Given the description of an element on the screen output the (x, y) to click on. 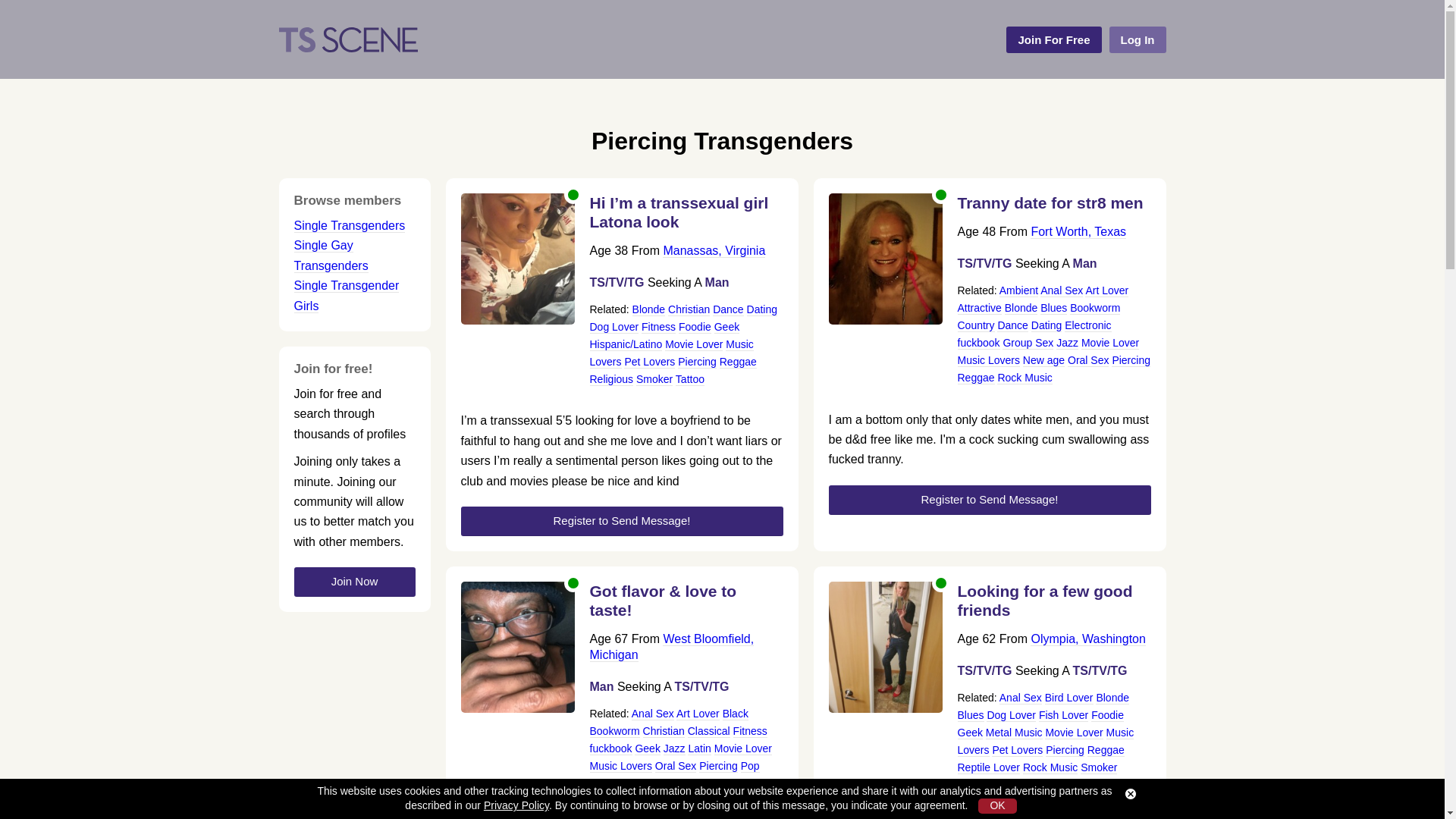
Join Now (354, 582)
Dating (761, 309)
Join For Free (1053, 39)
Christian (689, 309)
Log In (1137, 39)
Single Transgender Girls (346, 295)
Manassas, Virginia (713, 250)
Single Transgenders (350, 225)
Privacy Policy (515, 805)
Close (1130, 793)
OK (997, 806)
Blonde (648, 309)
Single Gay Transgenders (331, 255)
Dance (727, 309)
